Given the description of an element on the screen output the (x, y) to click on. 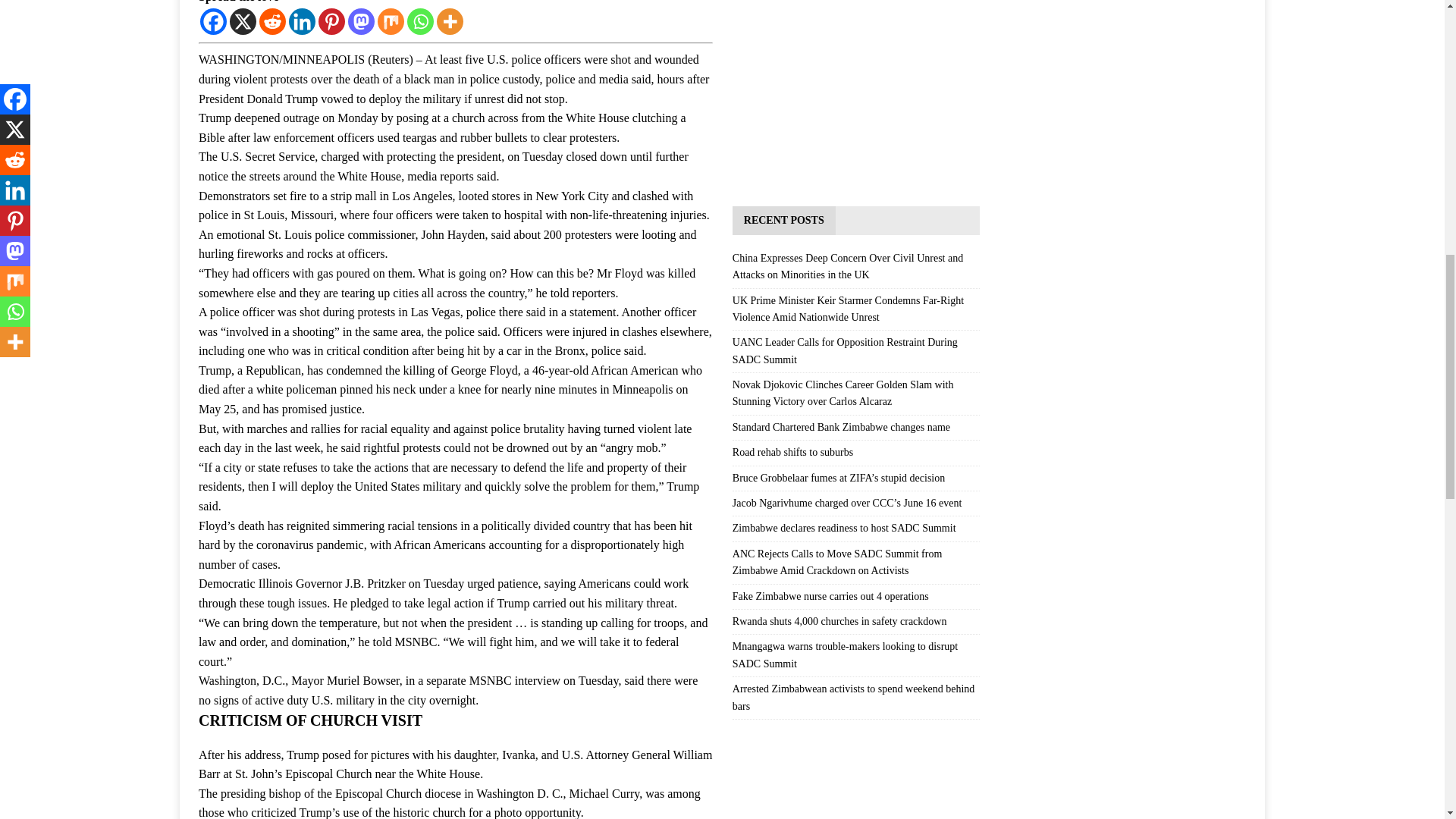
X (243, 21)
Mix (390, 21)
Pinterest (331, 21)
Linkedin (301, 21)
Reddit (272, 21)
Facebook (213, 21)
Whatsapp (420, 21)
Mastodon (360, 21)
